Given the description of an element on the screen output the (x, y) to click on. 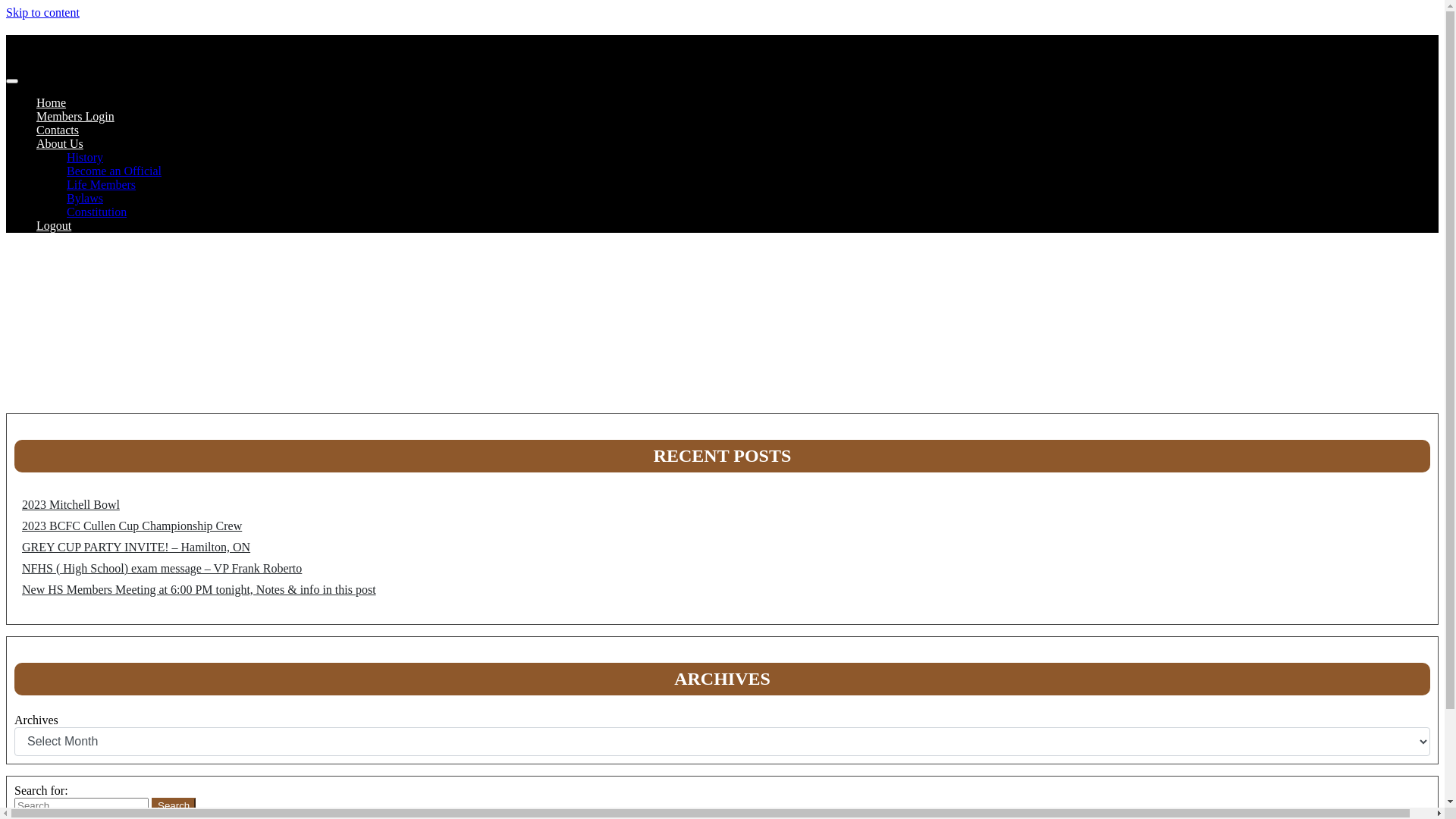
Search Element type: text (173, 805)
Bylaws Element type: text (84, 197)
Logout Element type: text (53, 225)
About Us Element type: text (59, 143)
Skip to content Element type: text (42, 12)
2023 Mitchell Bowl Element type: text (70, 504)
Home Element type: text (50, 102)
Reset password Element type: text (176, 372)
2023 BCFC Cullen Cup Championship Crew Element type: text (131, 525)
Life Members Element type: text (100, 184)
Contacts Element type: text (57, 129)
Members Login Element type: text (75, 115)
History Element type: text (84, 156)
Constitution Element type: text (96, 211)
Become an Official Element type: text (113, 170)
